Given the description of an element on the screen output the (x, y) to click on. 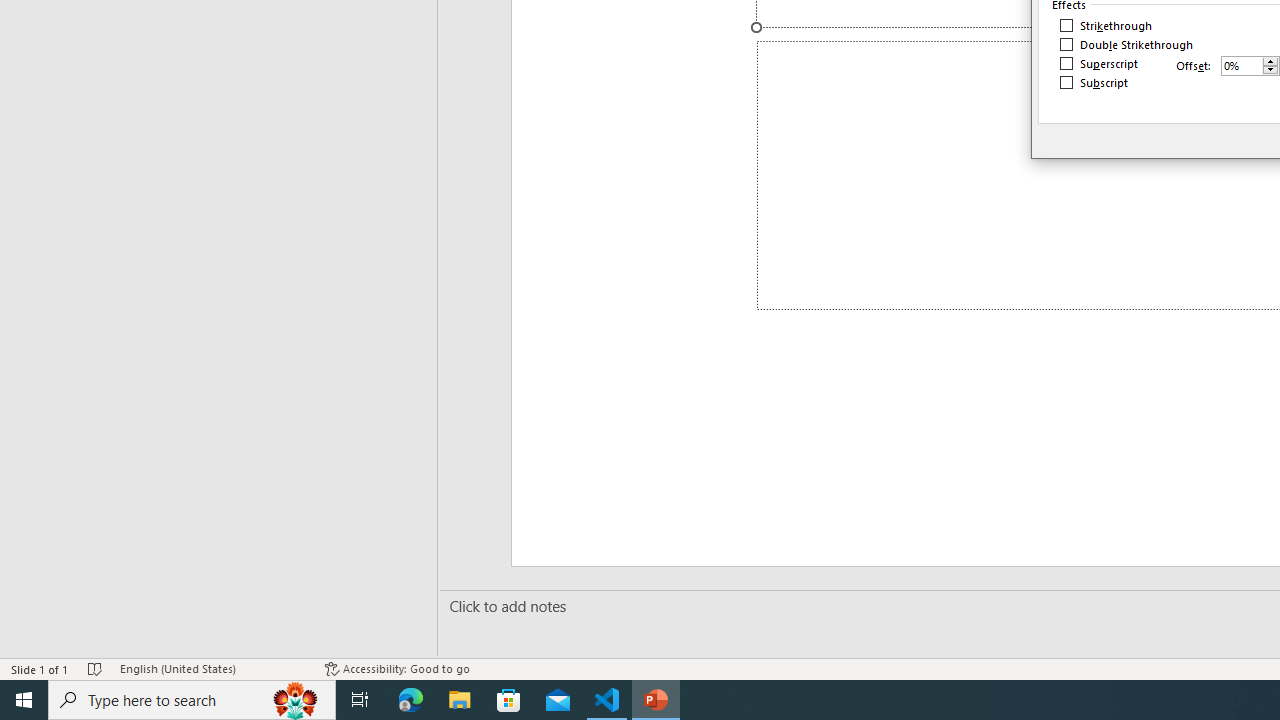
Double Strikethrough (1127, 44)
Superscript (1099, 64)
Subscript (1094, 82)
